Given the description of an element on the screen output the (x, y) to click on. 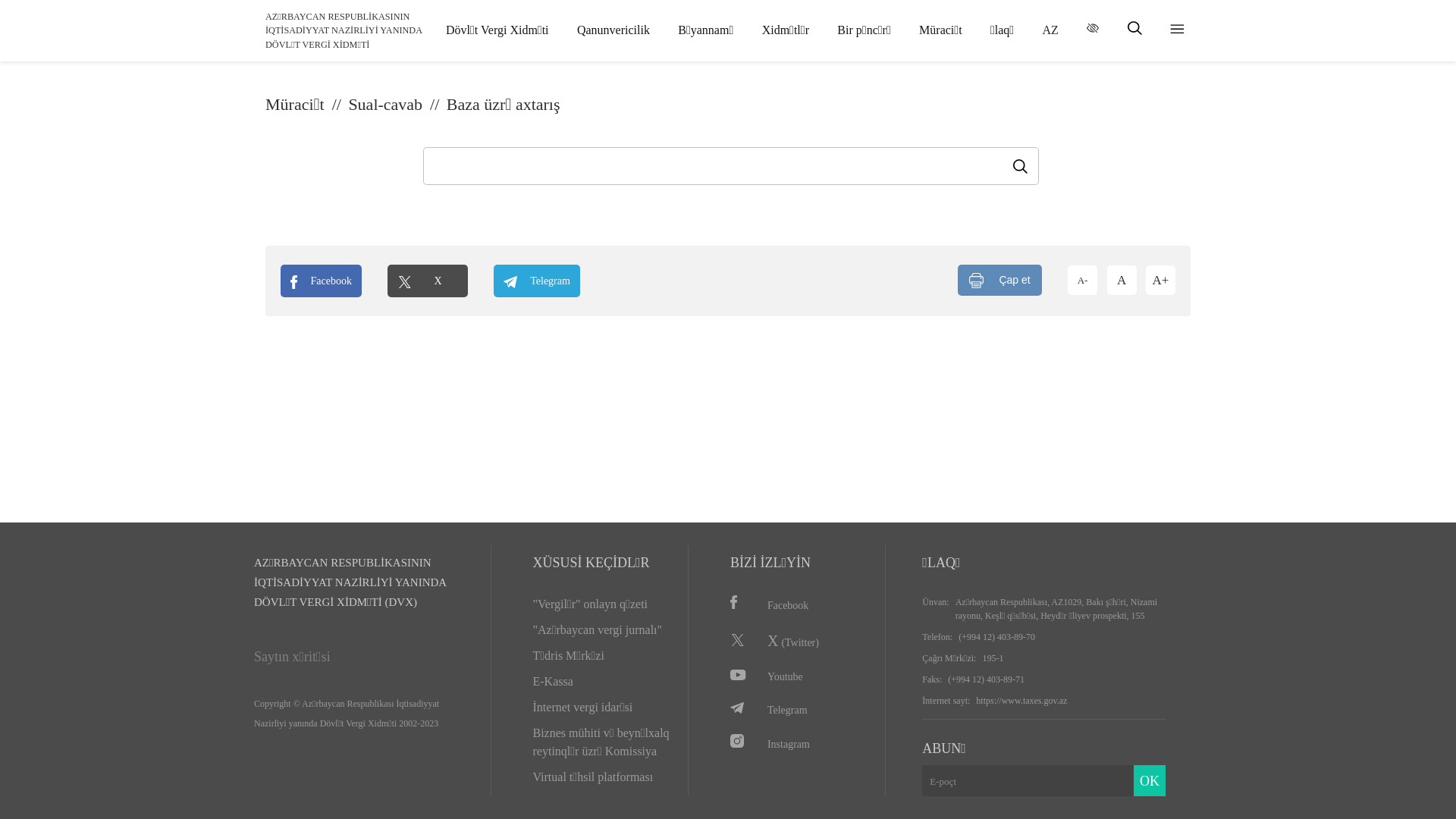
Facebook Element type: text (801, 604)
Sual-cavab Element type: text (395, 103)
Instagram Element type: text (801, 743)
Youtube Element type: text (801, 676)
X (Twitter) Element type: text (801, 640)
AZ Element type: text (1050, 30)
Telegram Element type: text (801, 709)
A+ Element type: text (1160, 279)
   X       Element type: text (427, 280)
Facebook Element type: text (320, 280)
Qanunvericilik Element type: text (613, 30)
Telegram Element type: text (536, 280)
A- Element type: text (1082, 279)
A Element type: text (1121, 279)
E-Kassa Element type: text (603, 693)
